Given the description of an element on the screen output the (x, y) to click on. 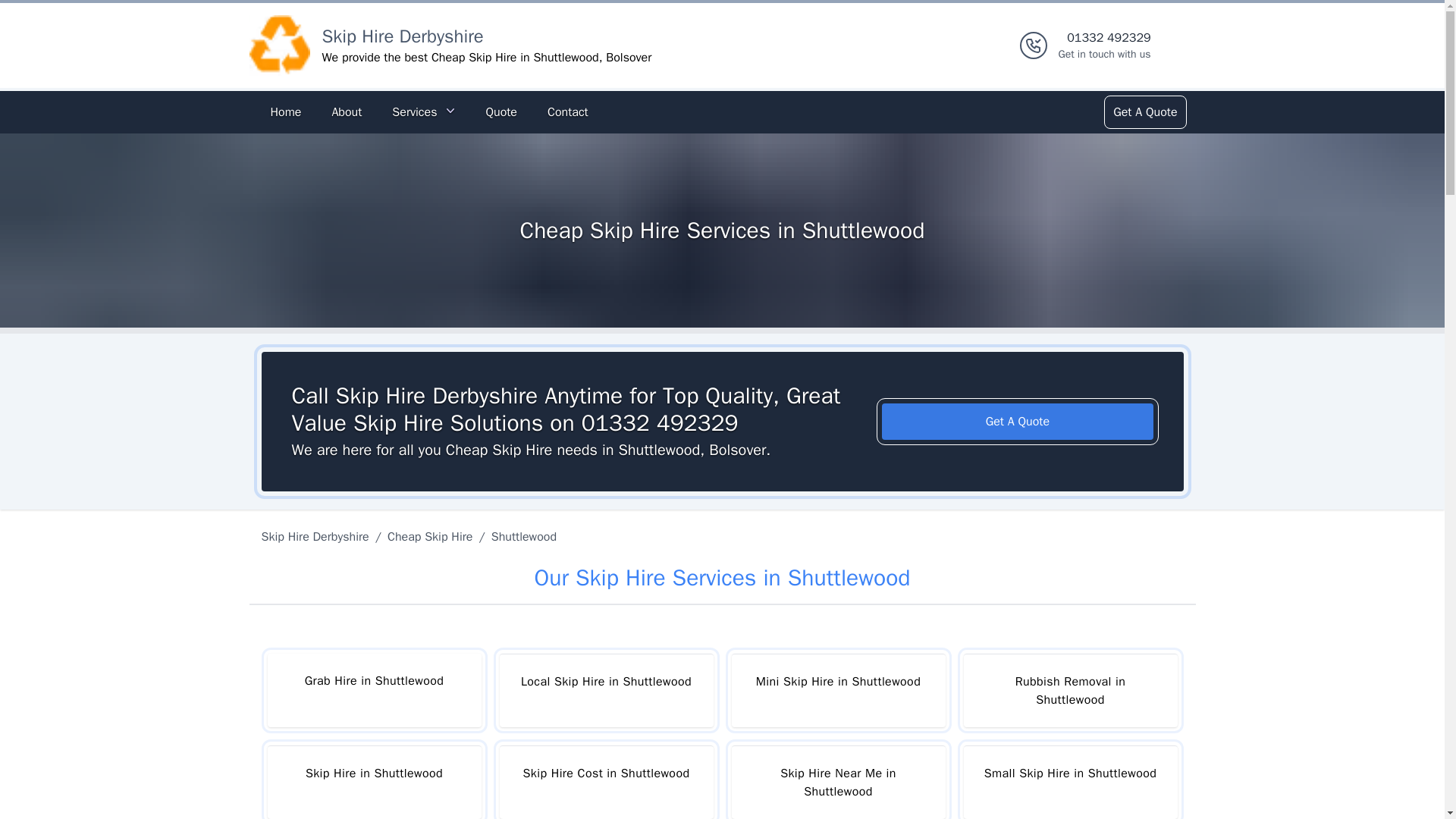
Skip Hire in Shuttlewood (373, 782)
Contact (1104, 45)
Services (567, 112)
About (423, 112)
Skip Hire Cost in Shuttlewood (346, 112)
Skip Hire Derbyshire (606, 782)
Mini Skip Hire in Shuttlewood (402, 36)
Logo (837, 690)
Skip Hire Derbyshire (278, 45)
Small Skip Hire in Shuttlewood (317, 536)
Get A Quote (1069, 782)
Home (1017, 421)
Quote (285, 112)
Cheap Skip Hire (500, 112)
